Given the description of an element on the screen output the (x, y) to click on. 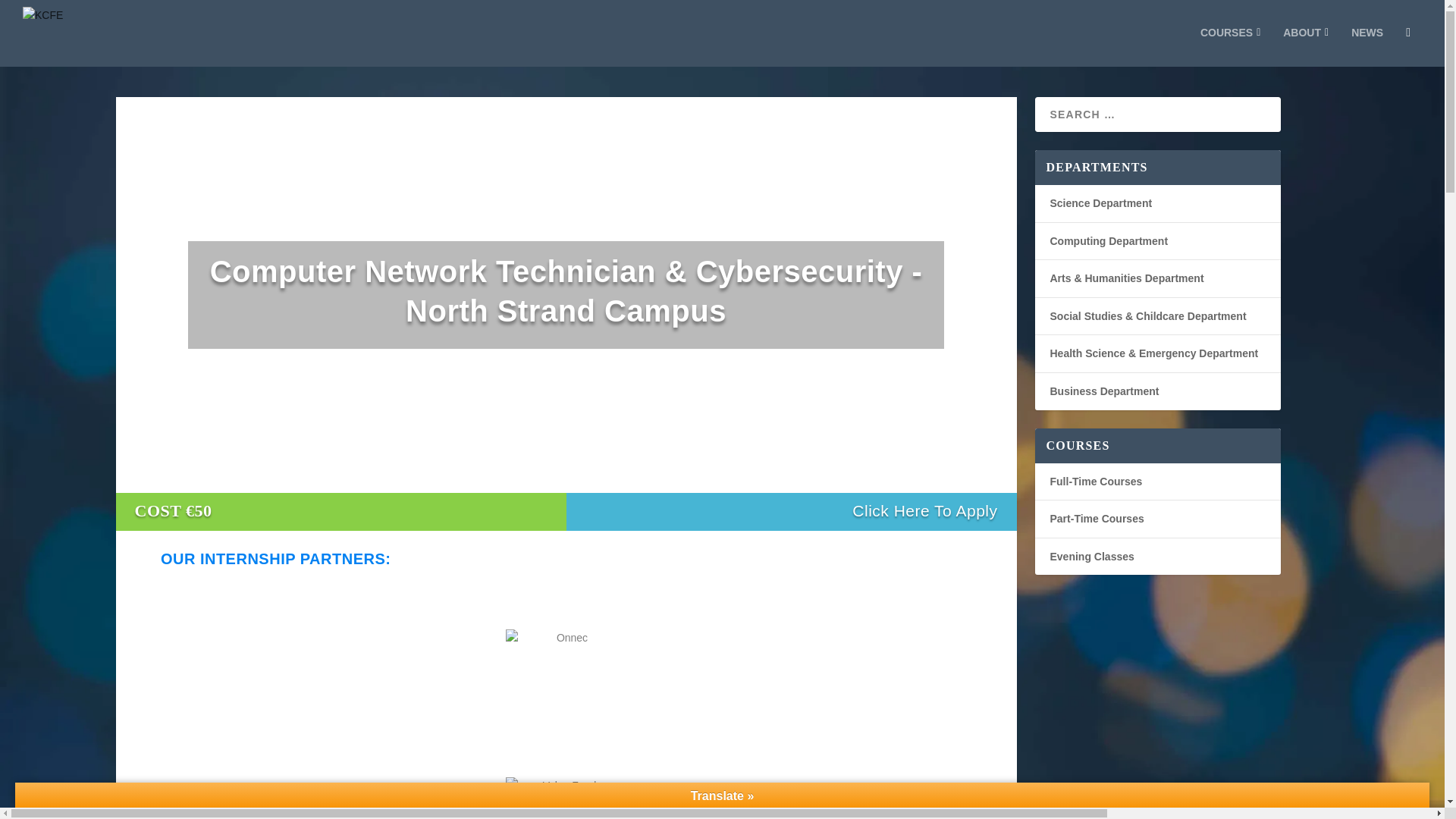
COURSES (1229, 46)
Click Here To Apply (924, 510)
ABOUT (1304, 46)
